Given the description of an element on the screen output the (x, y) to click on. 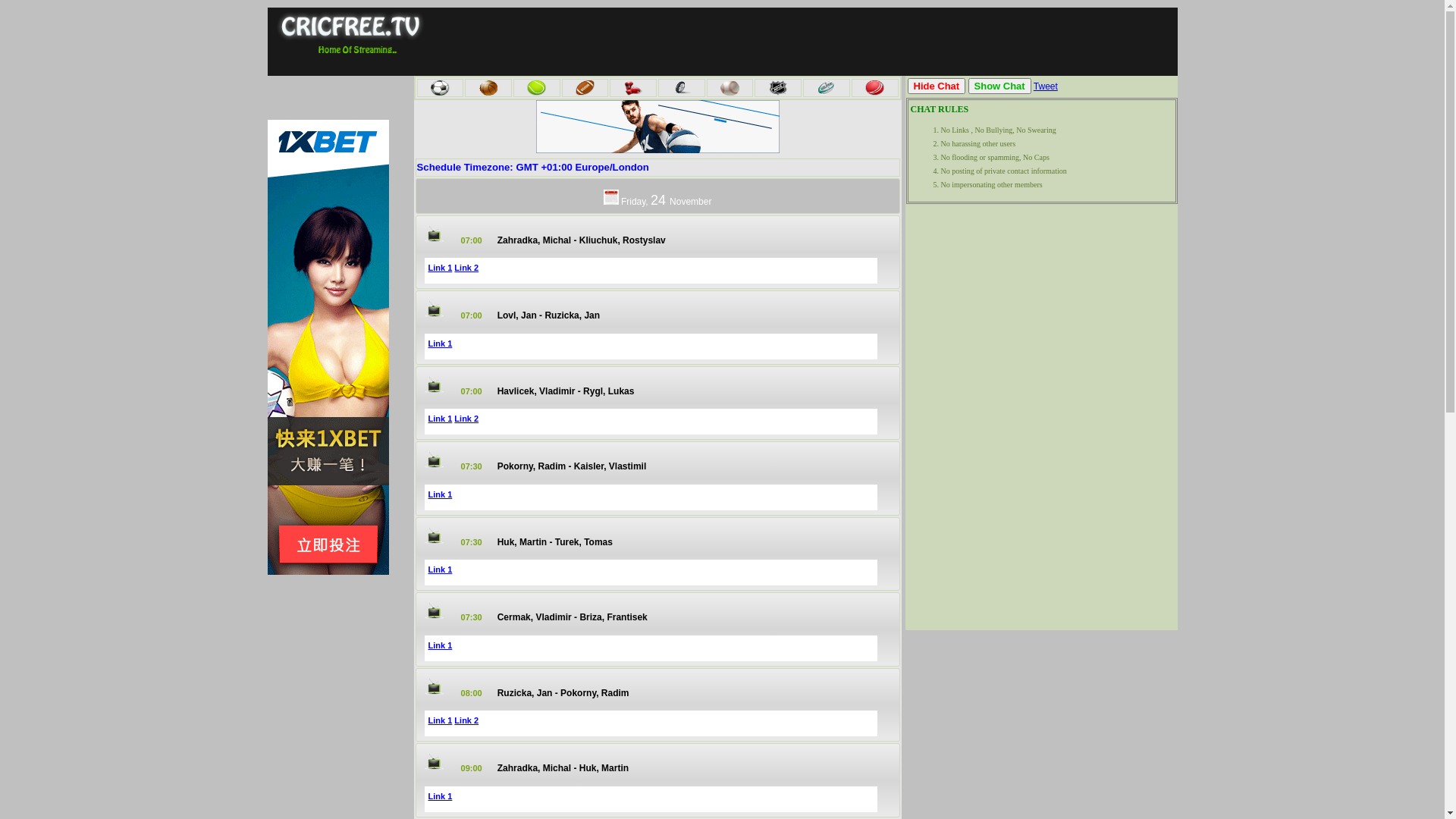
tv Element type: hover (431, 233)
tv Element type: hover (431, 761)
Link 1 Element type: text (439, 719)
Link 1 Element type: text (439, 343)
Link 1 Element type: text (439, 418)
Pokorny, Radim - Kaisler, Vlastimil Element type: text (571, 466)
Zahradka, Michal - Huk, Martin Element type: text (562, 767)
tv Element type: hover (431, 610)
tv Element type: hover (431, 535)
tv Element type: hover (431, 384)
Link 1 Element type: text (439, 569)
tv Element type: hover (431, 686)
Link 1 Element type: text (439, 493)
Hide Chat Element type: text (935, 86)
Link 1 Element type: text (439, 644)
Huk, Martin - Turek, Tomas Element type: text (554, 541)
Link 2 Element type: text (466, 719)
Link 2 Element type: text (466, 418)
Link 1 Element type: text (439, 267)
tv Element type: hover (431, 459)
Zahradka, Michal - Kliuchuk, Rostyslav Element type: text (581, 240)
tv Element type: hover (431, 308)
Havlicek, Vladimir - Rygl, Lukas Element type: text (565, 390)
Lovl, Jan - Ruzicka, Jan Element type: text (548, 315)
Link 1 Element type: text (439, 795)
Link 2 Element type: text (466, 267)
Show Chat Element type: text (999, 86)
Tweet Element type: text (1045, 86)
Ruzicka, Jan - Pokorny, Radim Element type: text (563, 692)
Cermak, Vladimir - Briza, Frantisek Element type: text (572, 616)
